Given the description of an element on the screen output the (x, y) to click on. 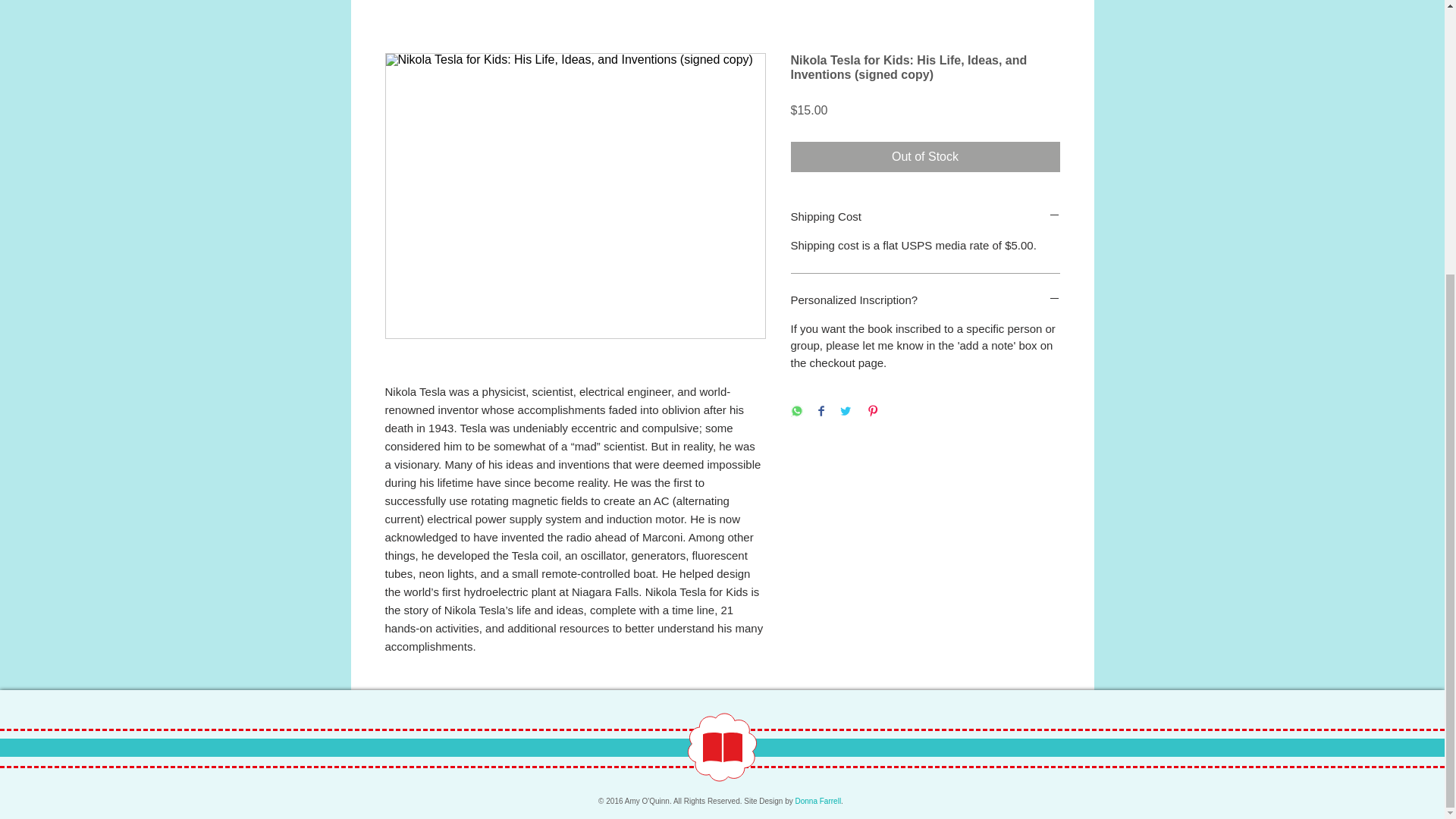
Out of Stock (924, 156)
Personalized Inscription? (924, 299)
Shipping Cost (924, 216)
Donna Farrell (817, 800)
